Given the description of an element on the screen output the (x, y) to click on. 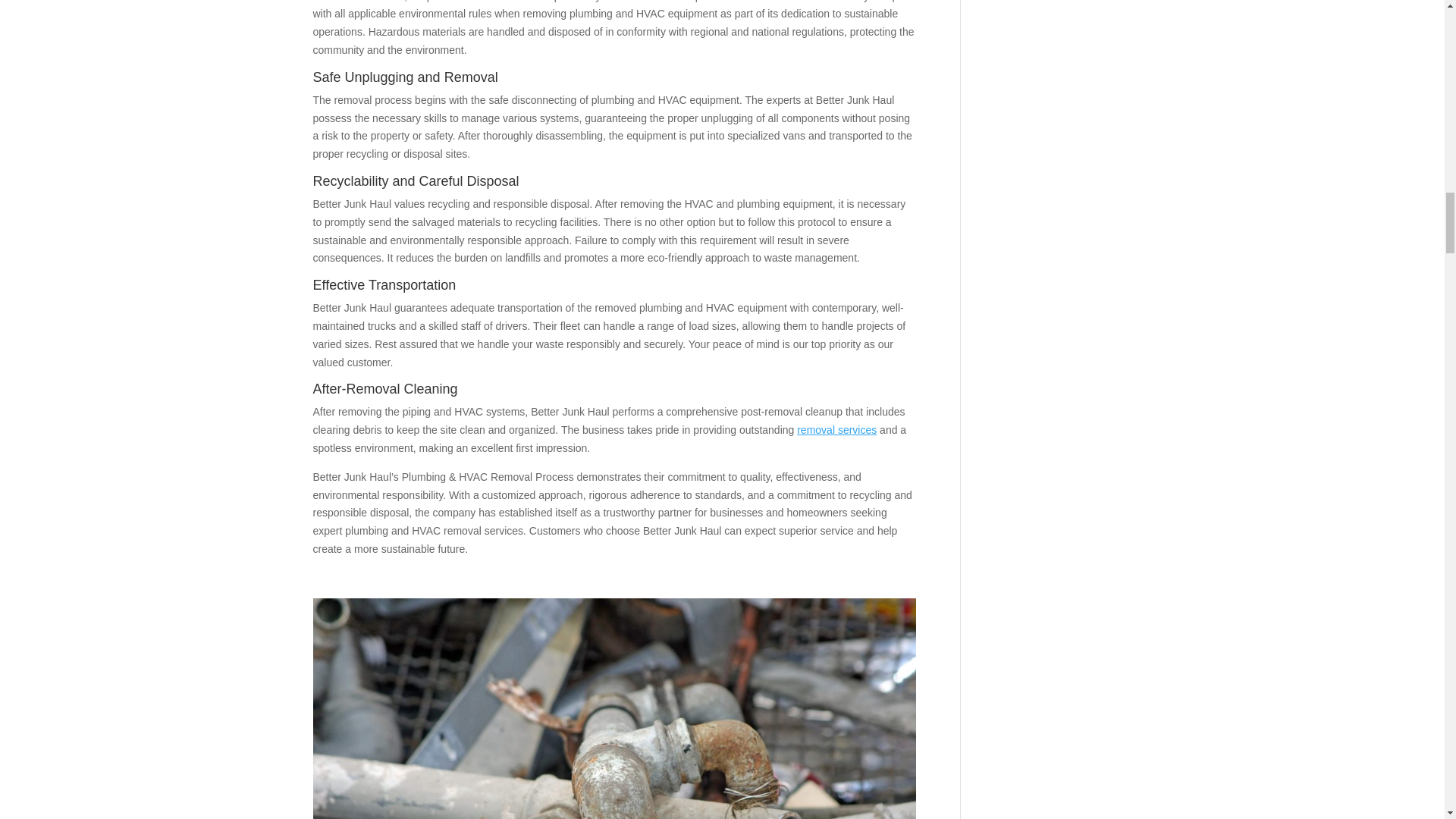
removal services (836, 429)
